Given the description of an element on the screen output the (x, y) to click on. 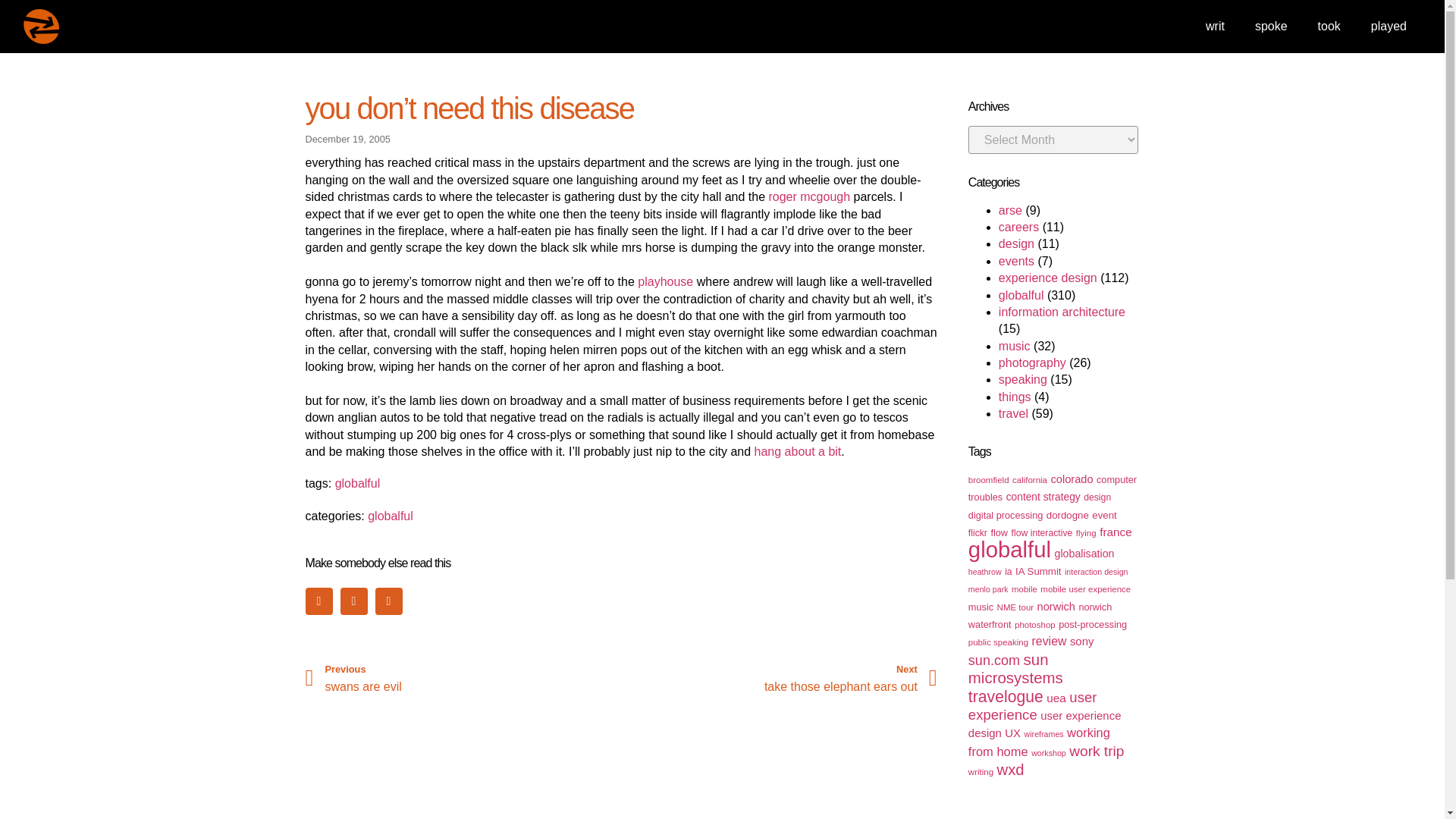
dordogne (1067, 514)
things (1014, 396)
globalful (390, 515)
speaking (1022, 379)
broomfield (988, 479)
travel (1012, 413)
writ (1215, 26)
globalful (1020, 295)
colorado (1071, 479)
globalful (357, 482)
experience design (1047, 277)
arse (1010, 210)
playhouse (665, 281)
roger mcgough (809, 196)
event (1104, 514)
